Given the description of an element on the screen output the (x, y) to click on. 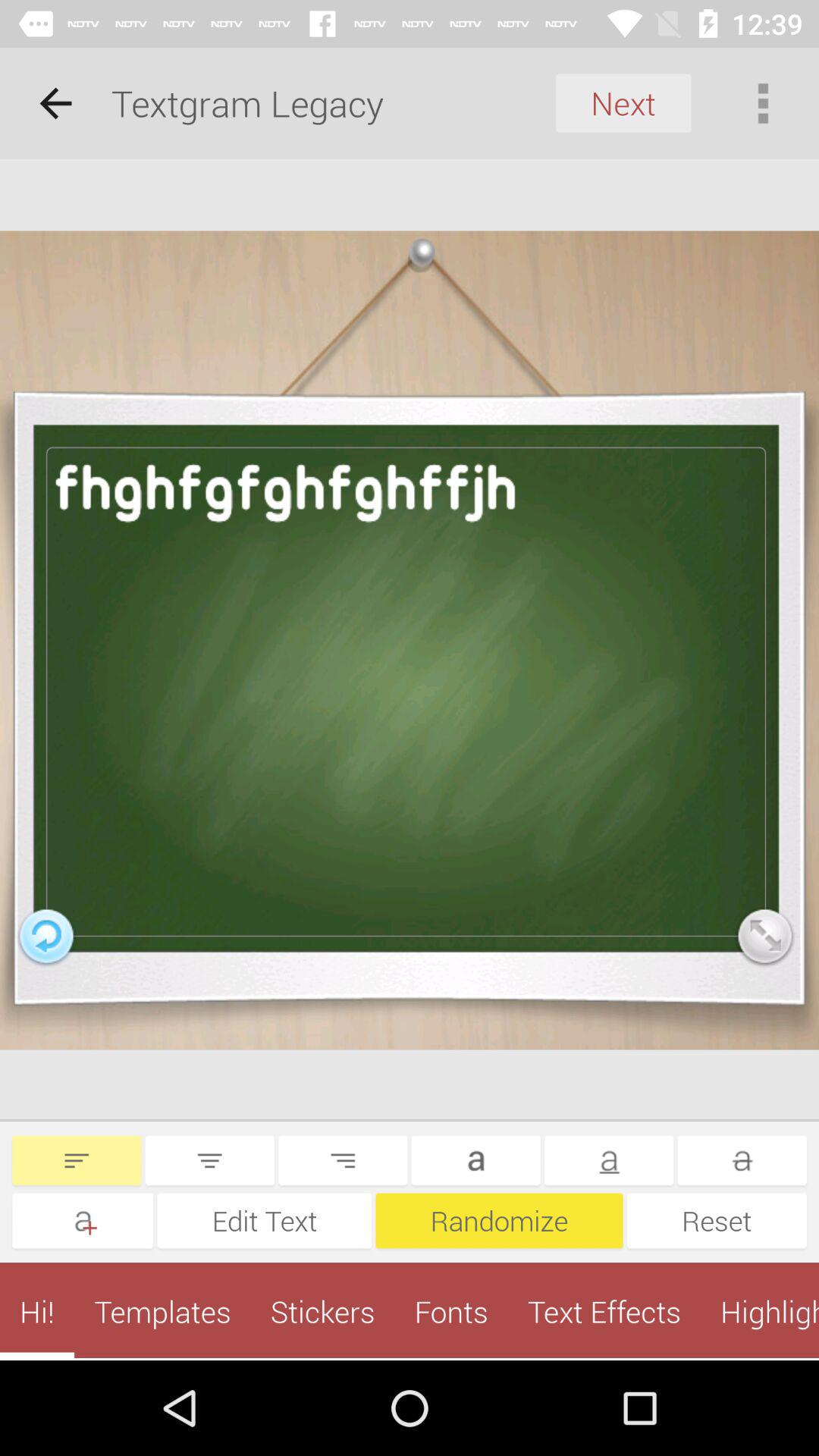
open the icon next to the textgram legacy icon (55, 103)
